Given the description of an element on the screen output the (x, y) to click on. 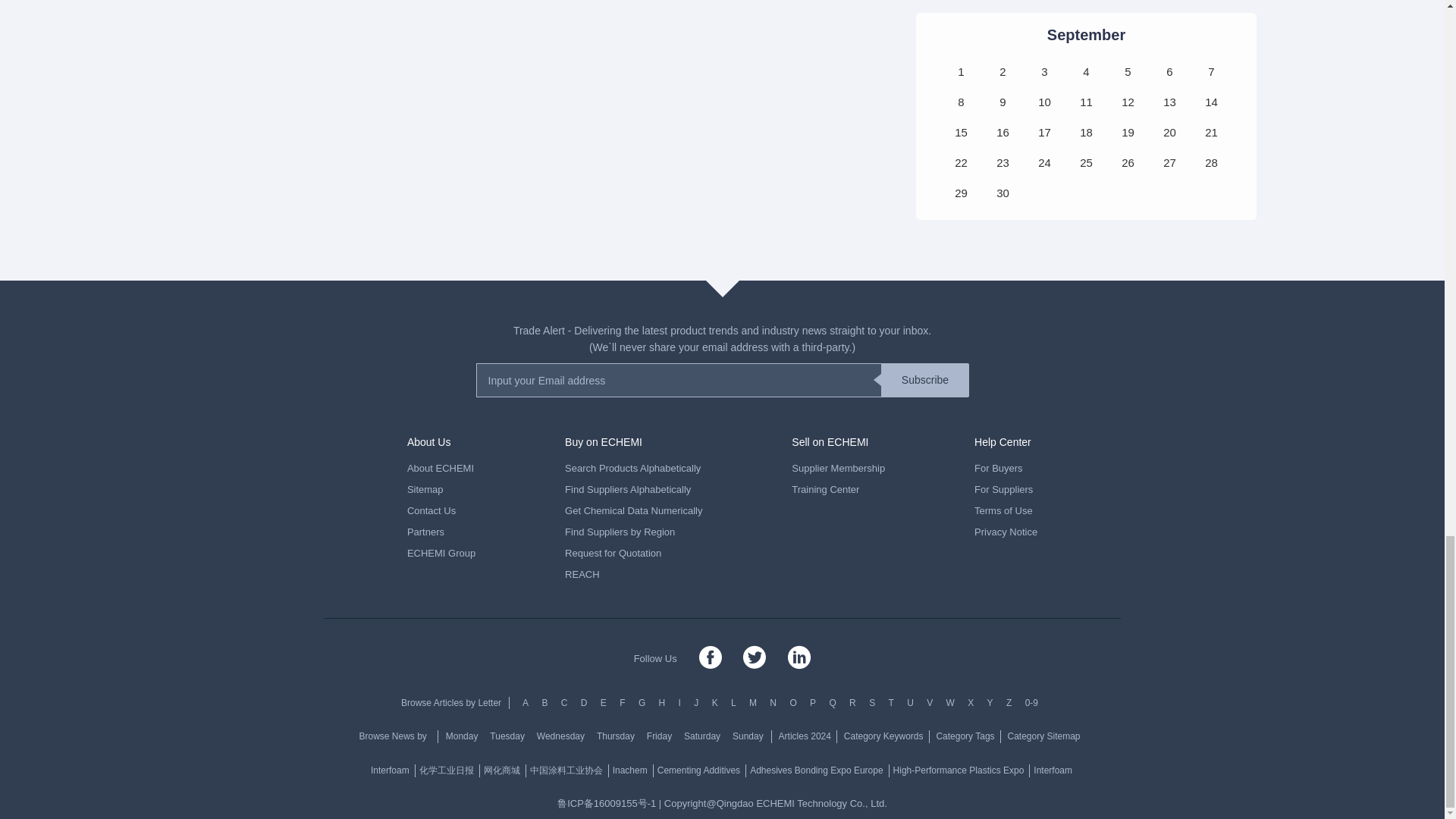
10 September, 2024 (1043, 101)
15 September, 2024 (960, 132)
7 September, 2024 (1211, 71)
5 September, 2024 (1127, 71)
19 September, 2024 (1127, 132)
14 September, 2024 (1211, 101)
6 September, 2024 (1168, 71)
1 September, 2024 (960, 71)
4 September, 2024 (1085, 71)
17 September, 2024 (1043, 132)
